Given the description of an element on the screen output the (x, y) to click on. 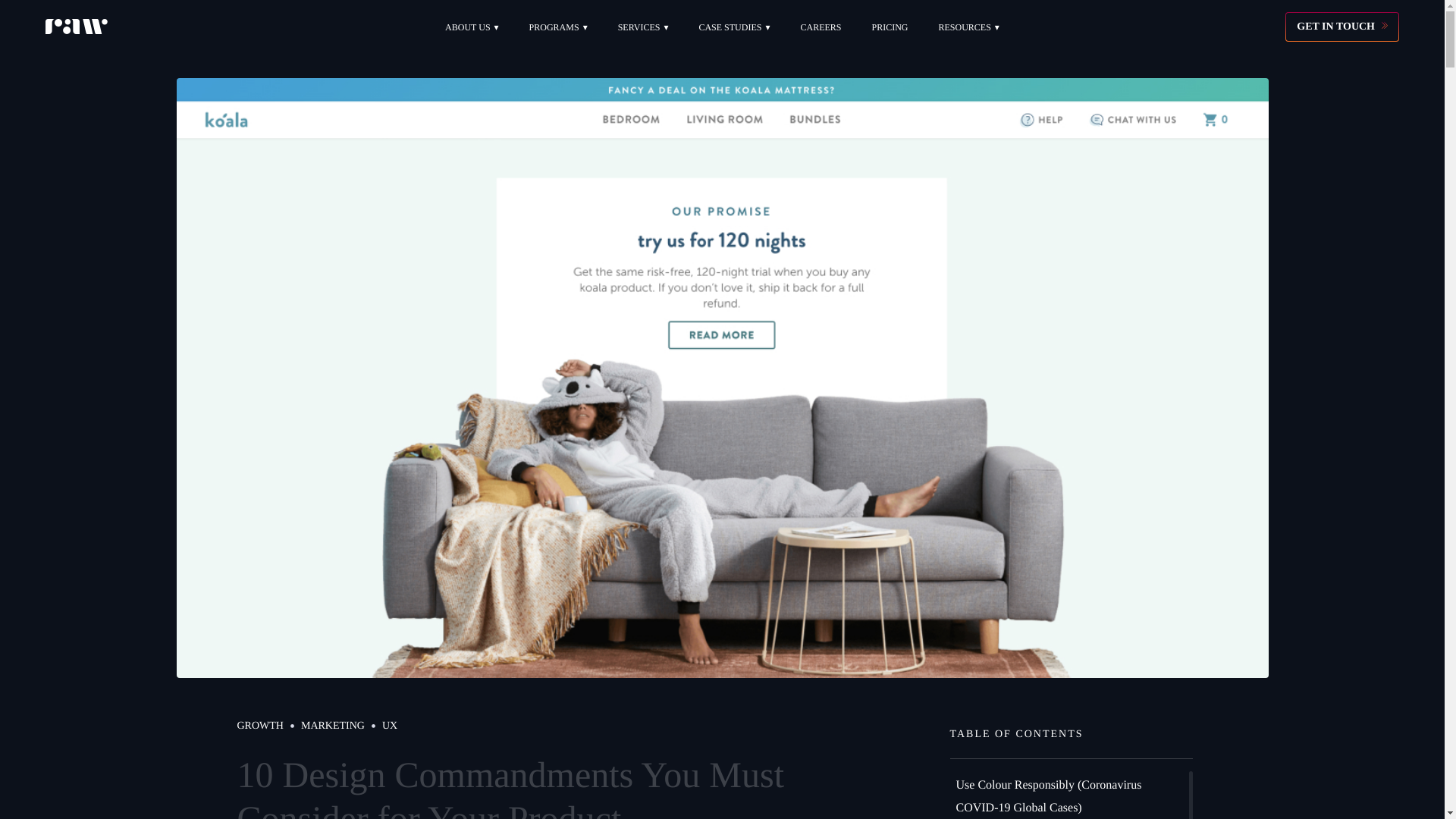
CASE STUDIES (734, 26)
RESOURCES (968, 26)
PROGRAMS (558, 26)
PRICING (888, 26)
SERVICES (642, 26)
ABOUT US (472, 26)
CAREERS (820, 26)
